Given the description of an element on the screen output the (x, y) to click on. 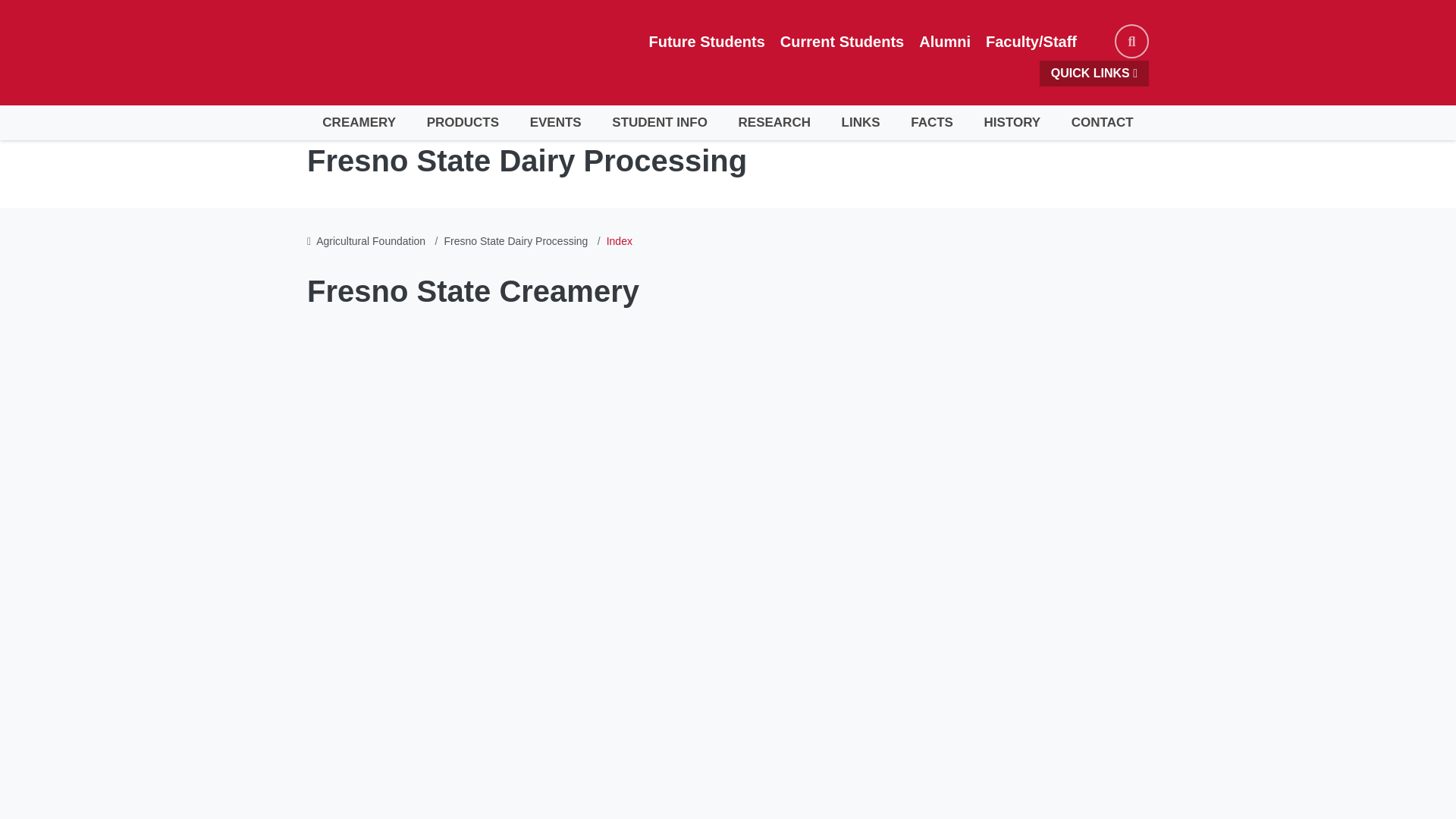
Quick Links (1093, 73)
LINKS (860, 122)
Future Students (707, 41)
HISTORY (1011, 122)
QUICK LINKS (1093, 73)
Alumni (944, 41)
Current Students (842, 41)
PRODUCTS (461, 122)
STUDENT INFO (659, 122)
CREAMERY (358, 122)
